Given the description of an element on the screen output the (x, y) to click on. 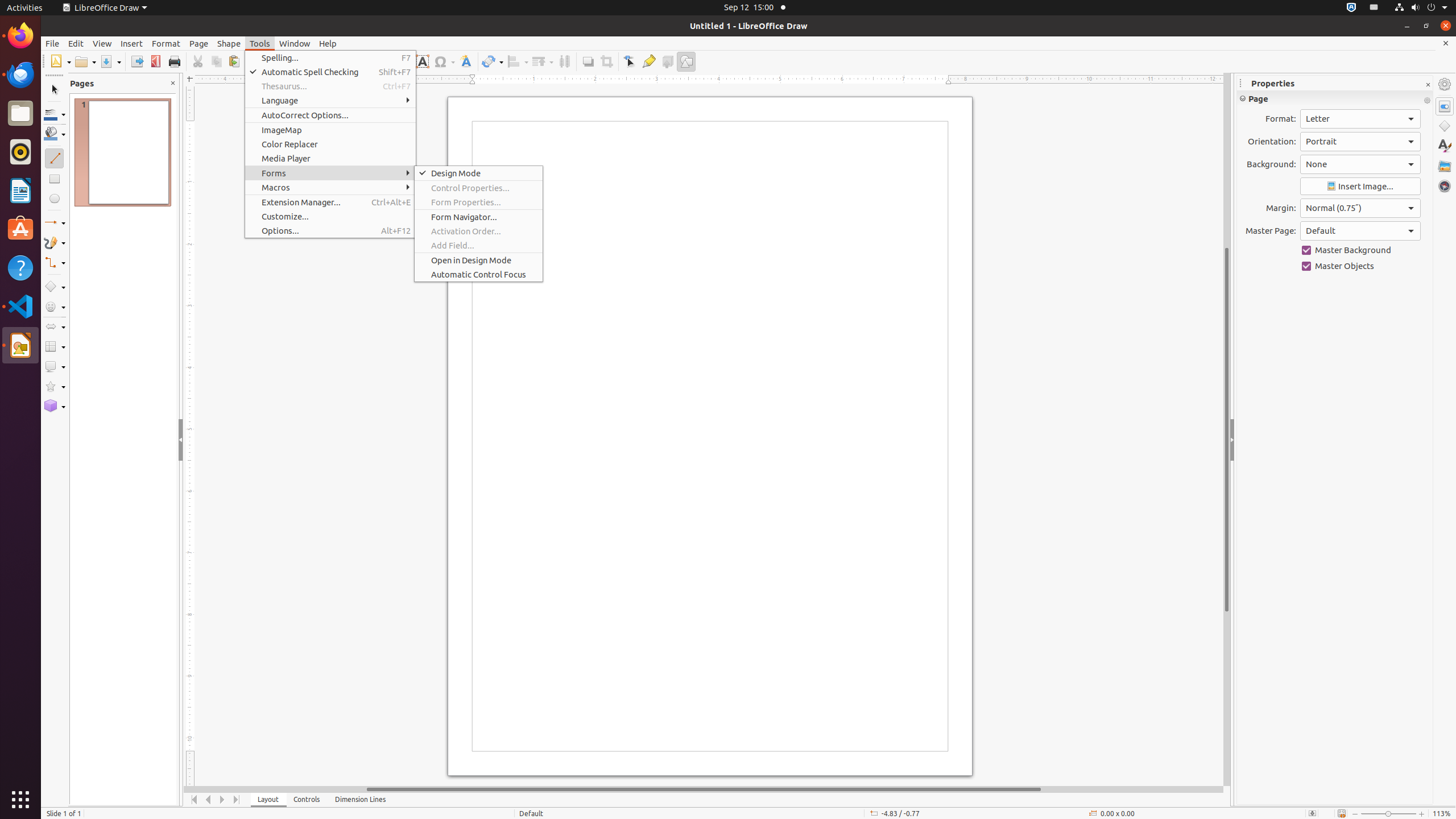
Files Element type: push-button (20, 113)
More Options Element type: push-button (1426, 100)
Activation Order... Element type: menu-item (478, 231)
Transformations Element type: push-button (492, 61)
Tools Element type: menu (259, 43)
